Given the description of an element on the screen output the (x, y) to click on. 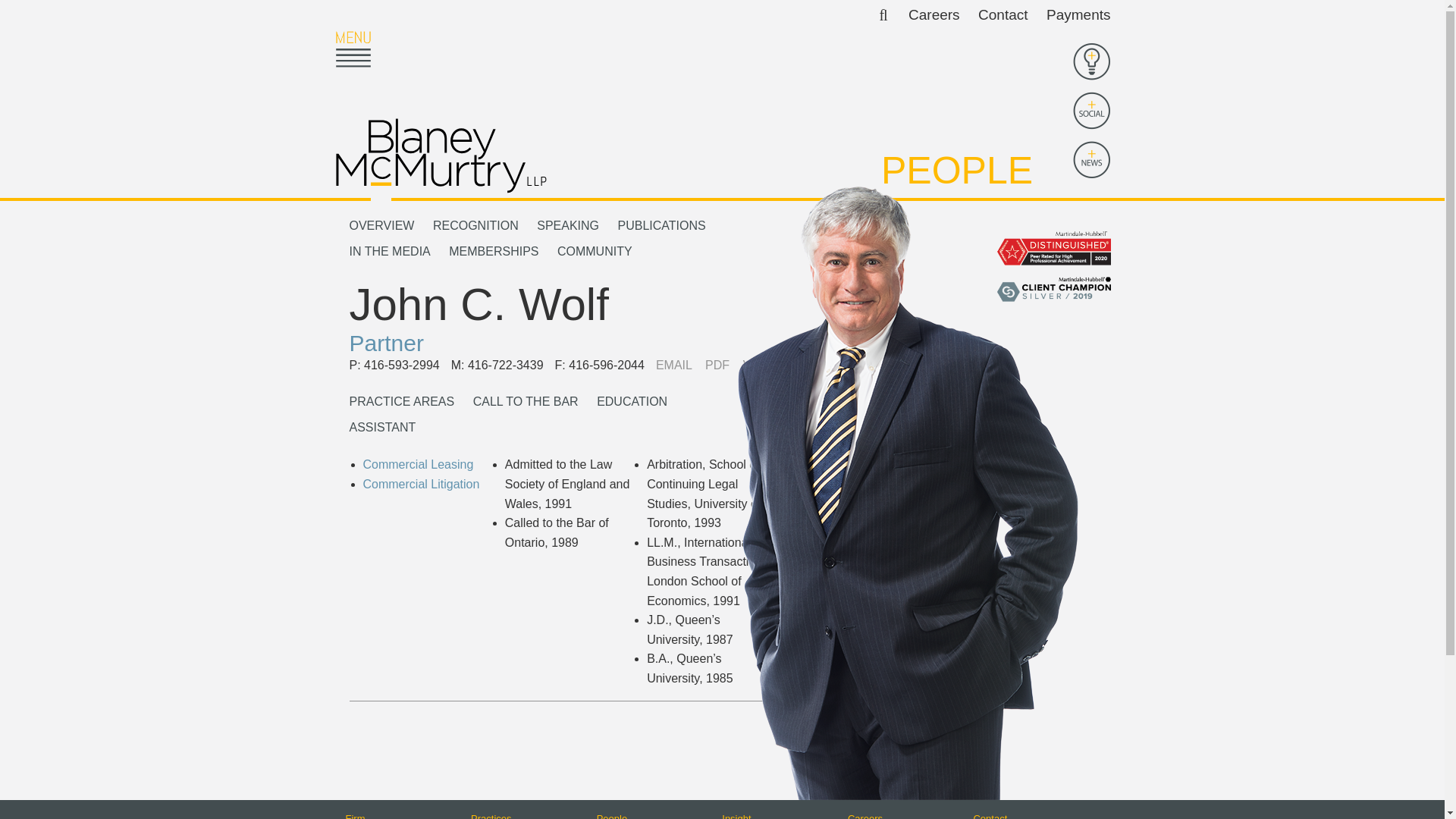
Link to Home Page (440, 155)
Payments (1077, 14)
News (1090, 159)
PEOPLE (956, 170)
Insights (1090, 61)
Open Main Menu (352, 48)
Social (1090, 110)
Careers (933, 14)
Contact (1002, 14)
